Given the description of an element on the screen output the (x, y) to click on. 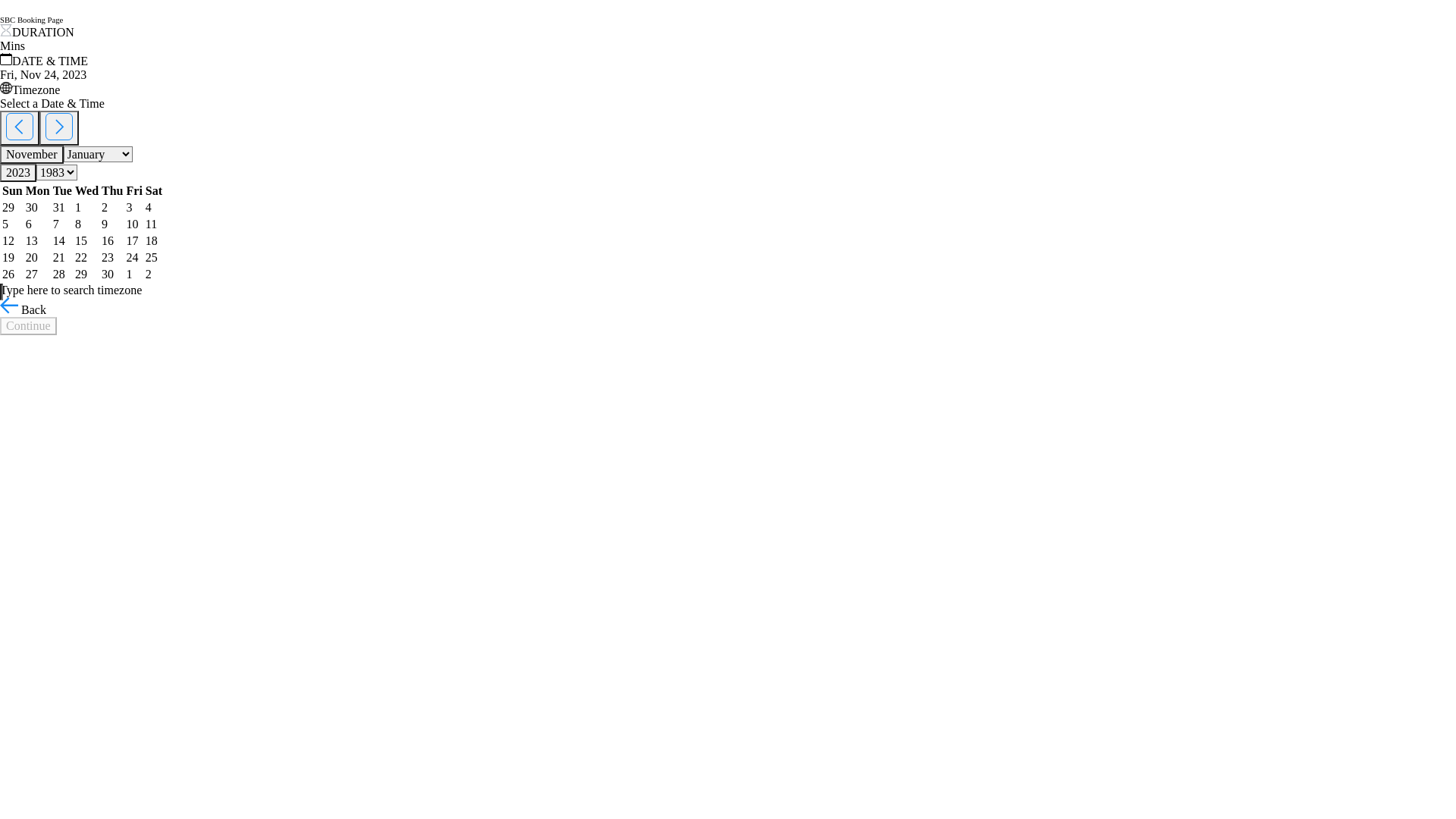
Next month Element type: hover (58, 127)
2023 Element type: text (18, 172)
Continue Element type: text (28, 325)
Previous month Element type: hover (19, 127)
Back Element type: text (23, 309)
November Element type: text (31, 154)
